Given the description of an element on the screen output the (x, y) to click on. 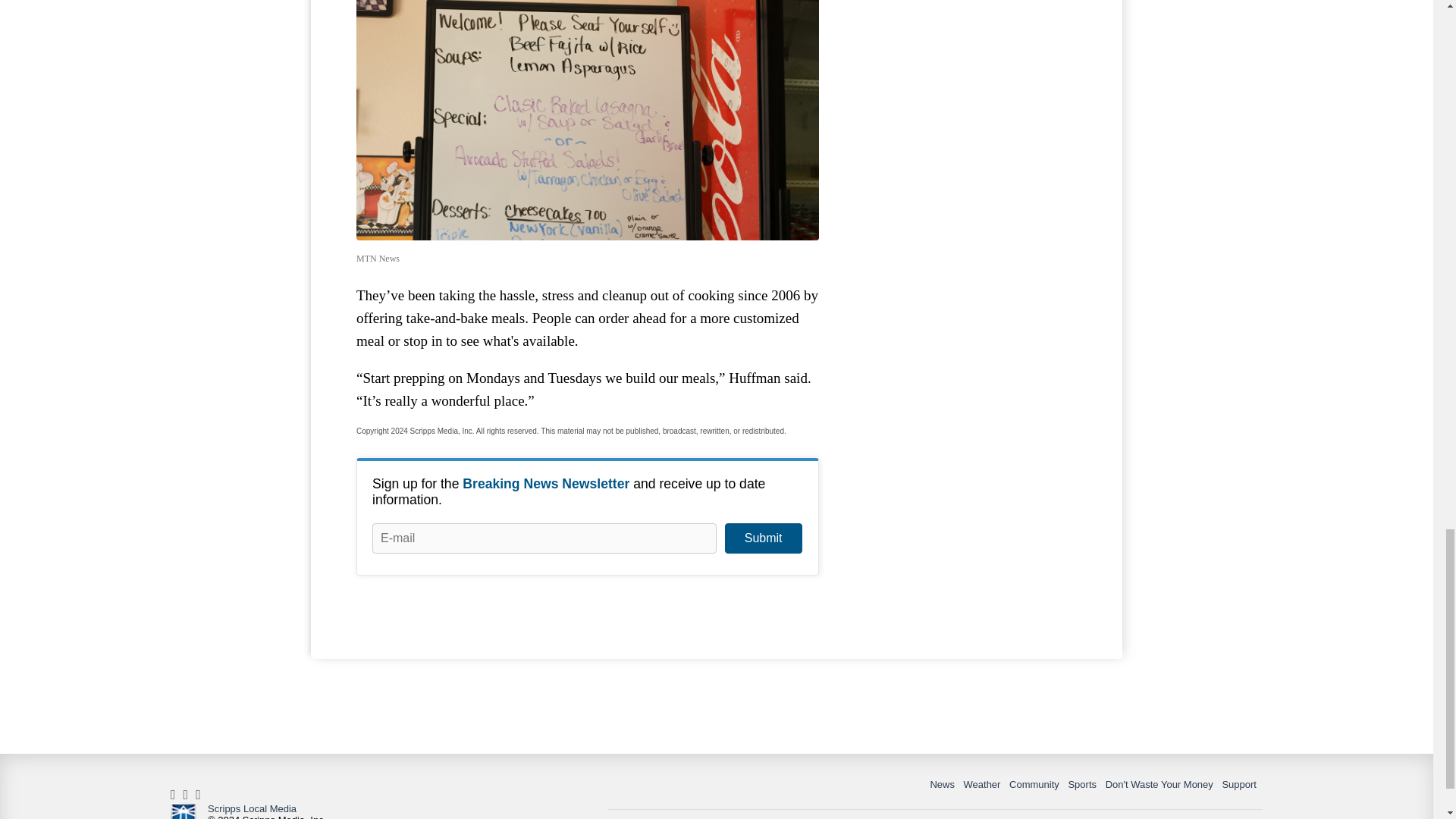
Submit (763, 538)
